Given the description of an element on the screen output the (x, y) to click on. 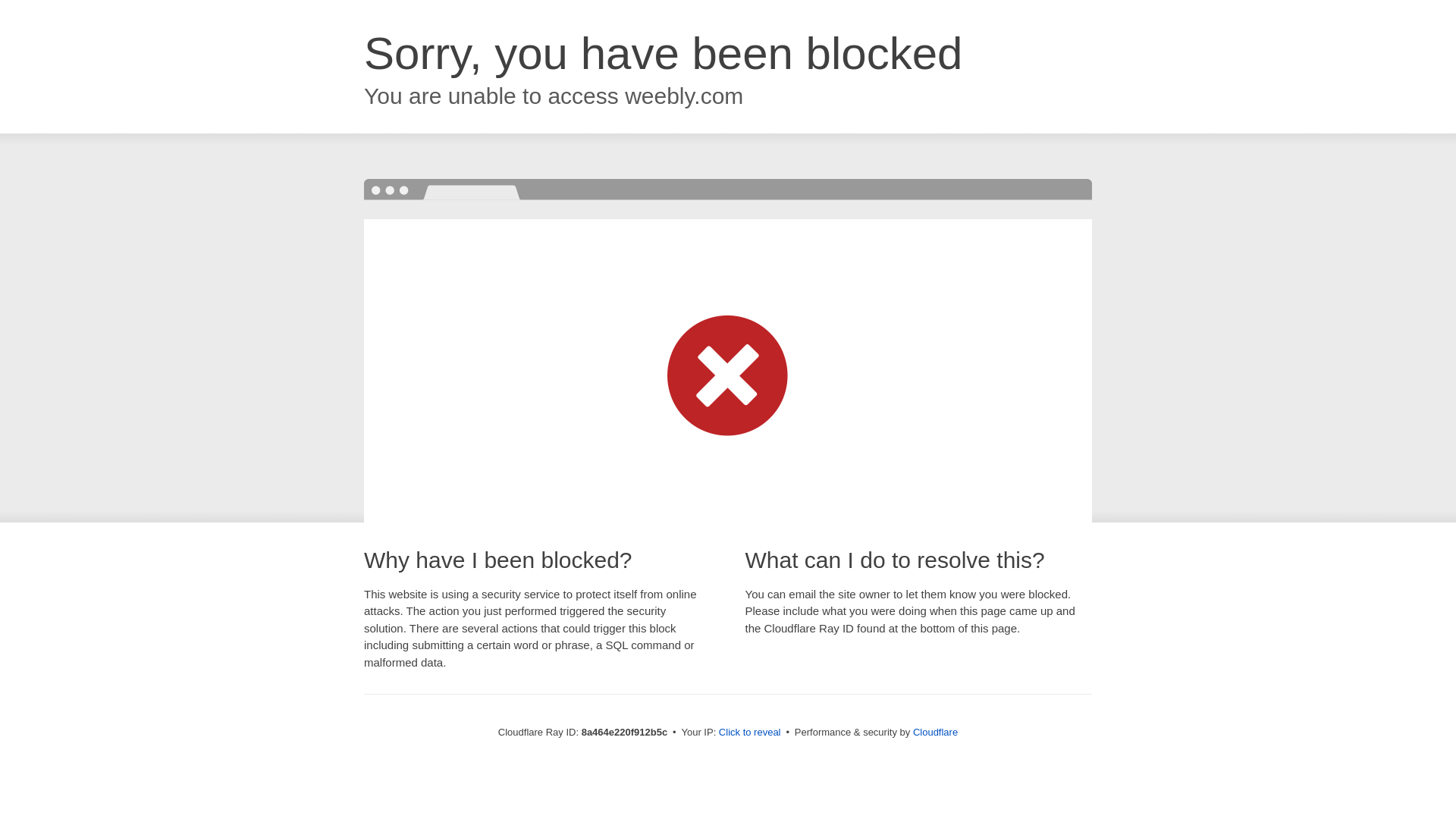
Cloudflare (935, 731)
Click to reveal (749, 732)
